Given the description of an element on the screen output the (x, y) to click on. 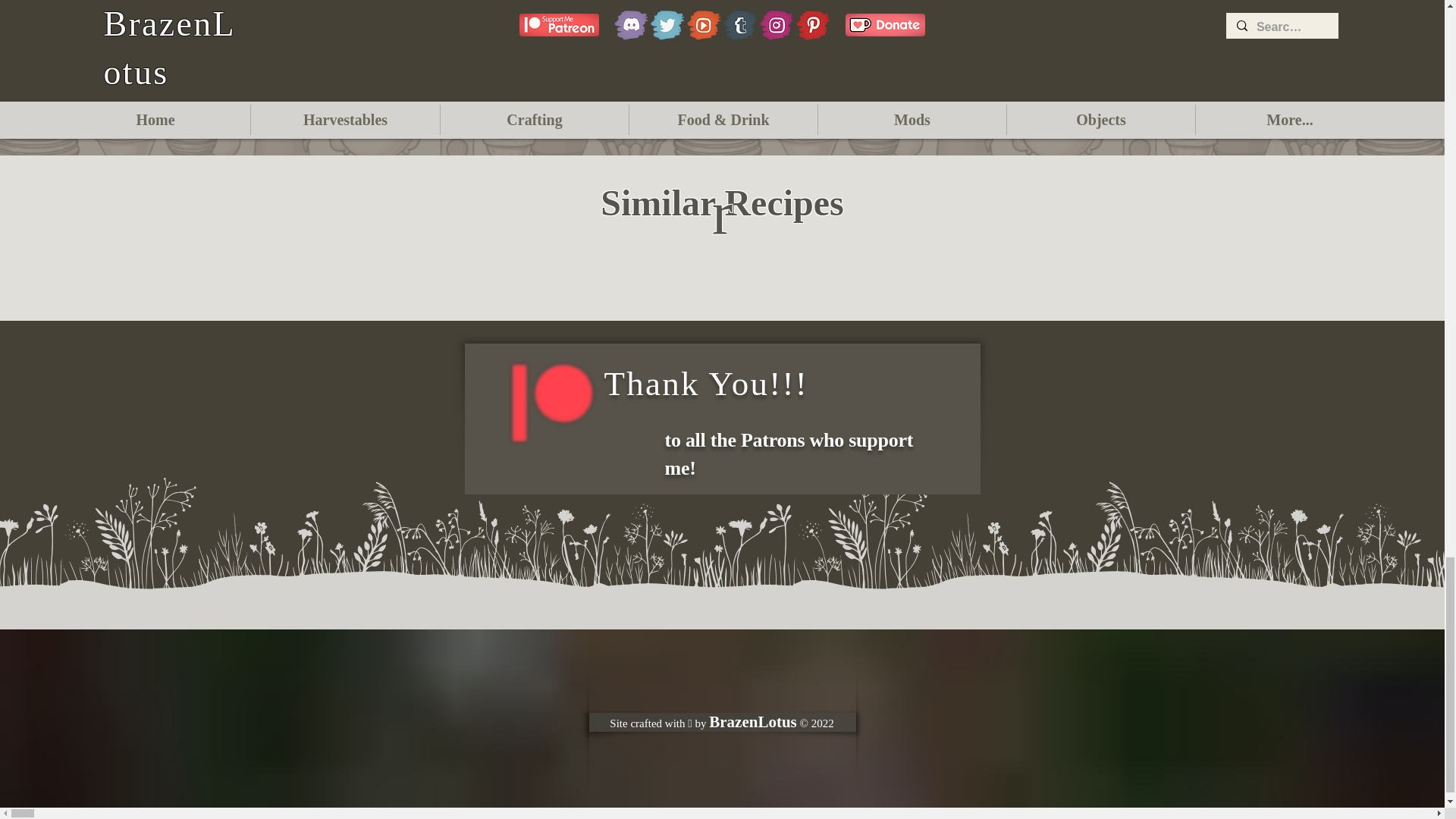
Thank You!!! (706, 383)
to all the Patrons who support me! (787, 453)
DOWNLOAD (721, 75)
